Given the description of an element on the screen output the (x, y) to click on. 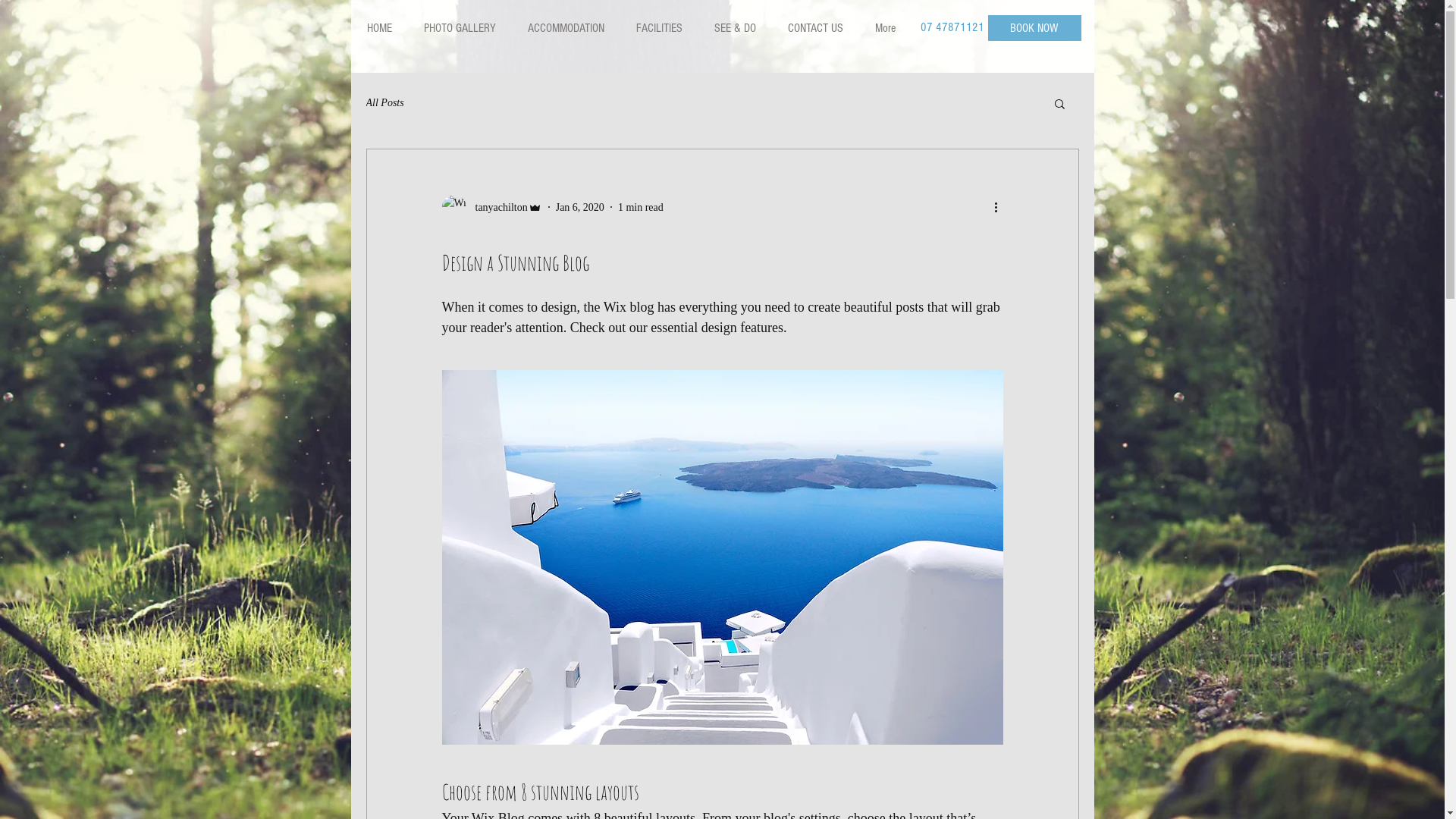
FACILITIES Element type: text (659, 27)
CONTACT US Element type: text (815, 27)
BOOK NOW Element type: text (1033, 27)
SEE & DO Element type: text (734, 27)
PHOTO GALLERY Element type: text (459, 27)
HOME Element type: text (378, 27)
All Posts Element type: text (384, 103)
ACCOMMODATION Element type: text (565, 27)
tanyachilton Element type: text (491, 206)
